Given the description of an element on the screen output the (x, y) to click on. 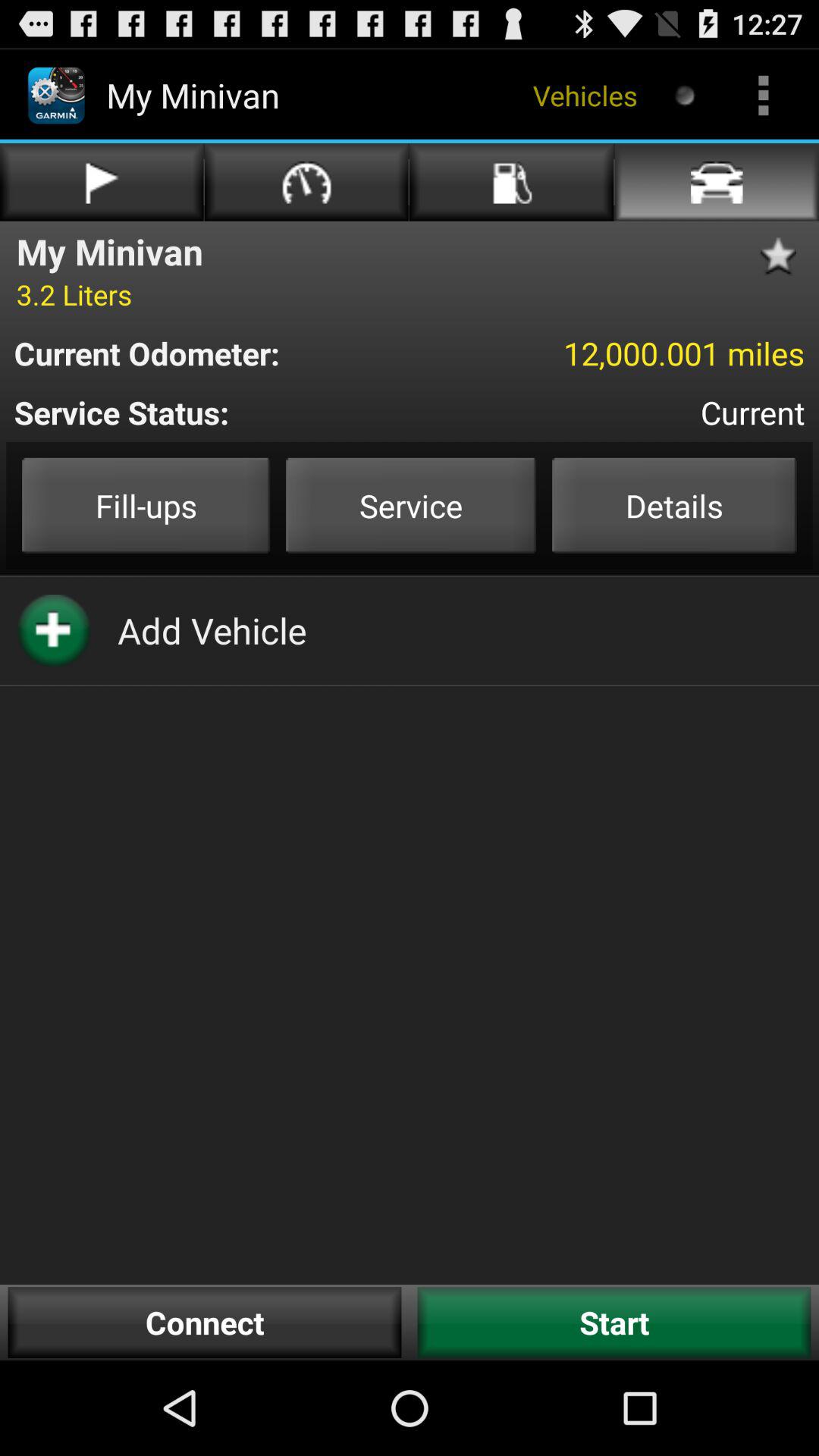
turn on item above the service status: item (612, 352)
